Given the description of an element on the screen output the (x, y) to click on. 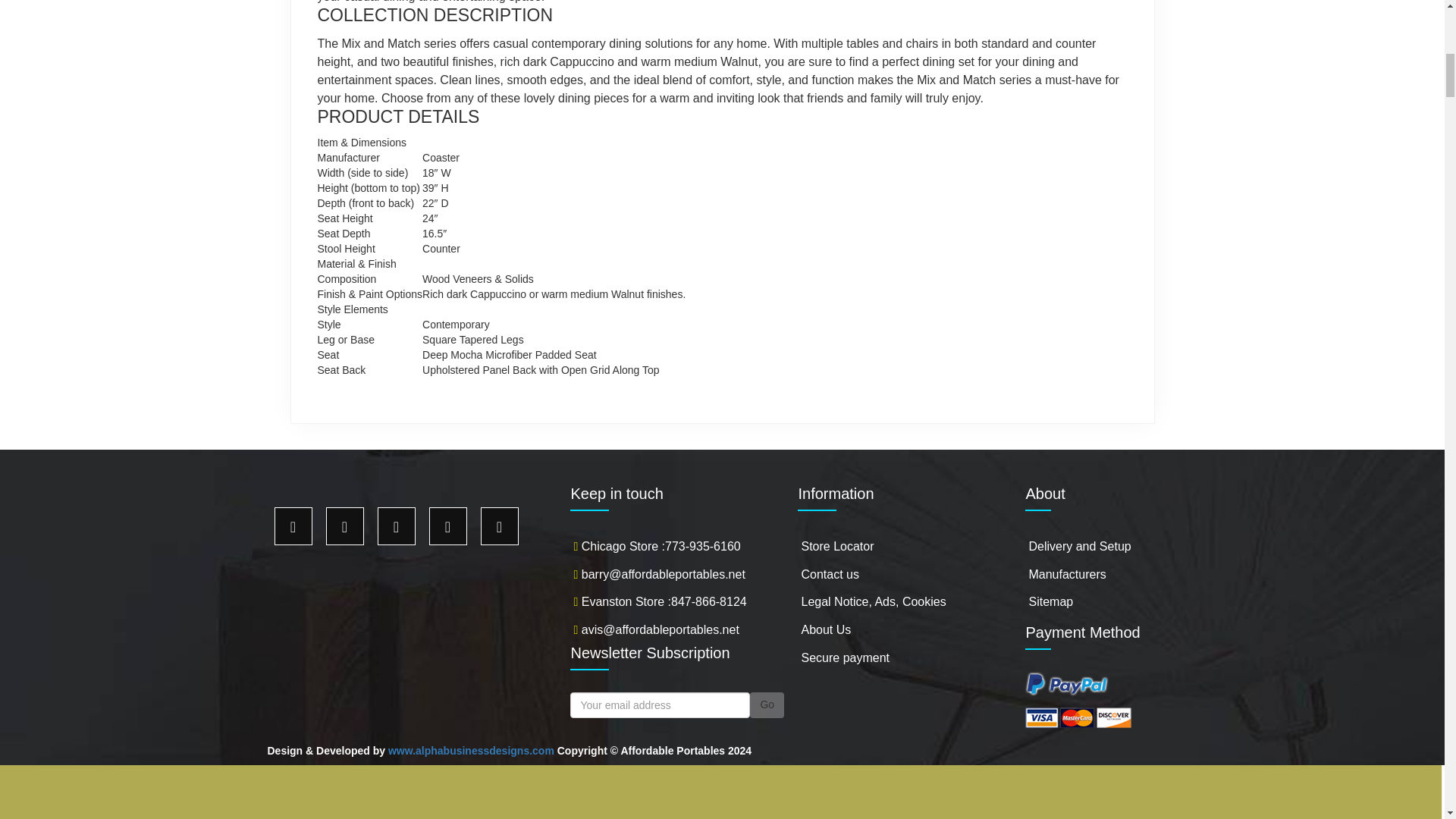
Linkedin (499, 525)
Linkedin (448, 525)
Twitter (345, 525)
Go (766, 705)
Facebook (294, 525)
